Given the description of an element on the screen output the (x, y) to click on. 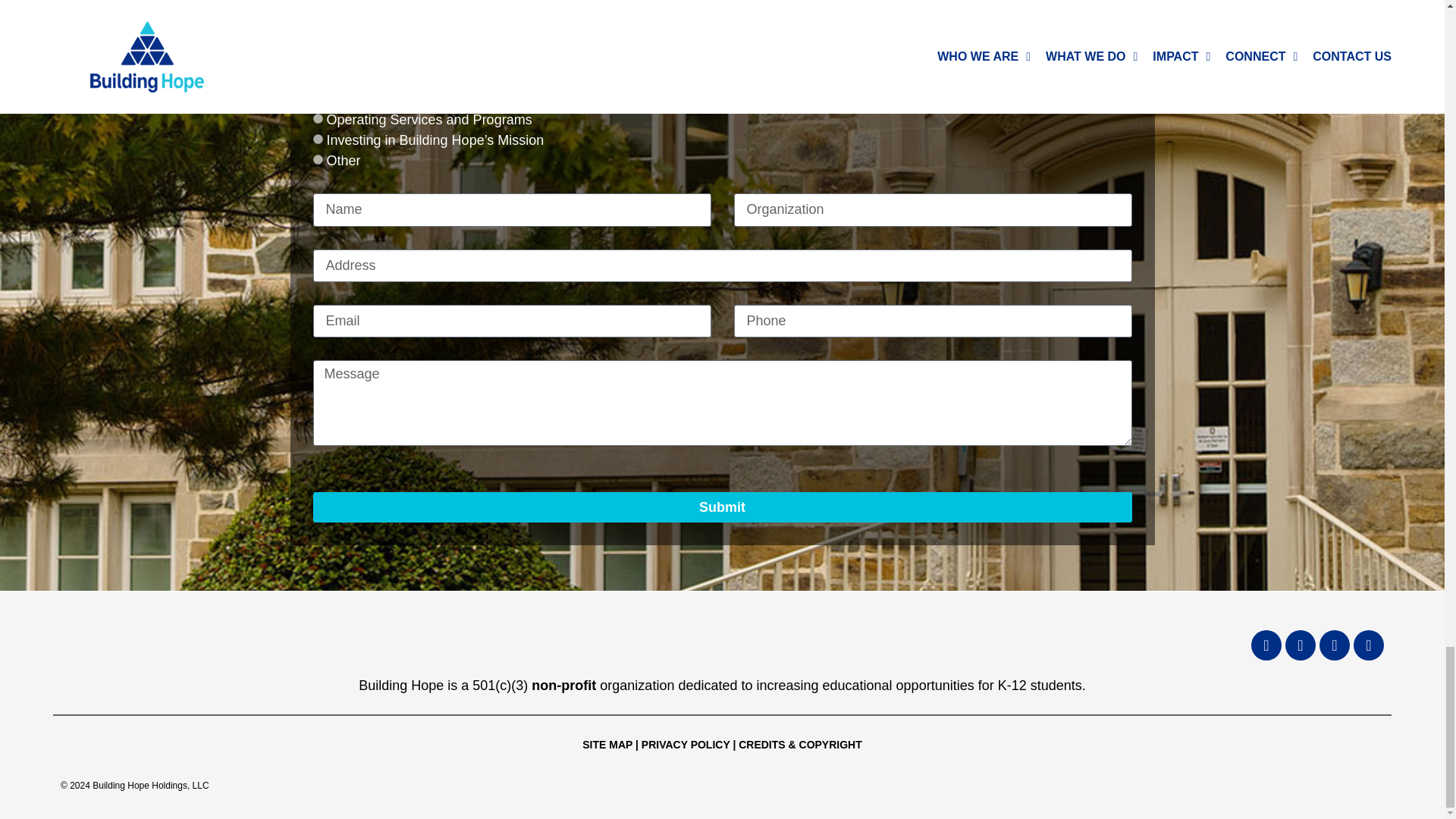
Operating Services and Programs (317, 118)
Other (317, 159)
Loans for Schools (317, 98)
Building a New School (317, 36)
Renovating an Existing Facility (317, 57)
Financing or Refinancing a Facility (317, 77)
